Given the description of an element on the screen output the (x, y) to click on. 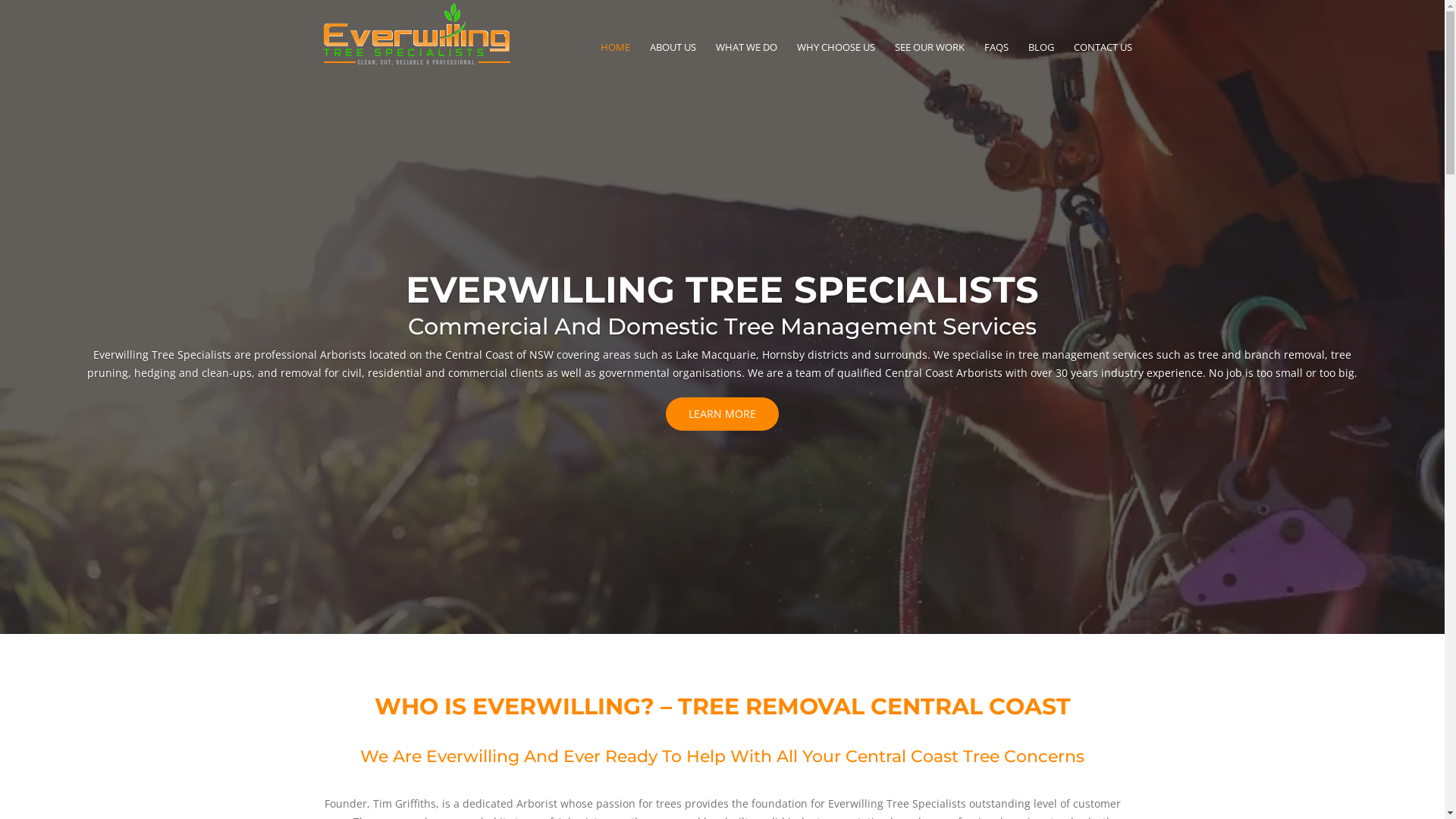
EVERWILLING TREE SPECIALISTS Element type: text (721, 289)
HOME Element type: text (615, 50)
WHAT WE DO Element type: text (746, 50)
ABOUT US Element type: text (672, 50)
WHY CHOOSE US Element type: text (835, 50)
LEARN MORE Element type: text (721, 413)
FAQS Element type: text (996, 50)
BLOG Element type: text (1041, 50)
CONTACT US Element type: text (1102, 50)
SEE OUR WORK Element type: text (929, 50)
